Given the description of an element on the screen output the (x, y) to click on. 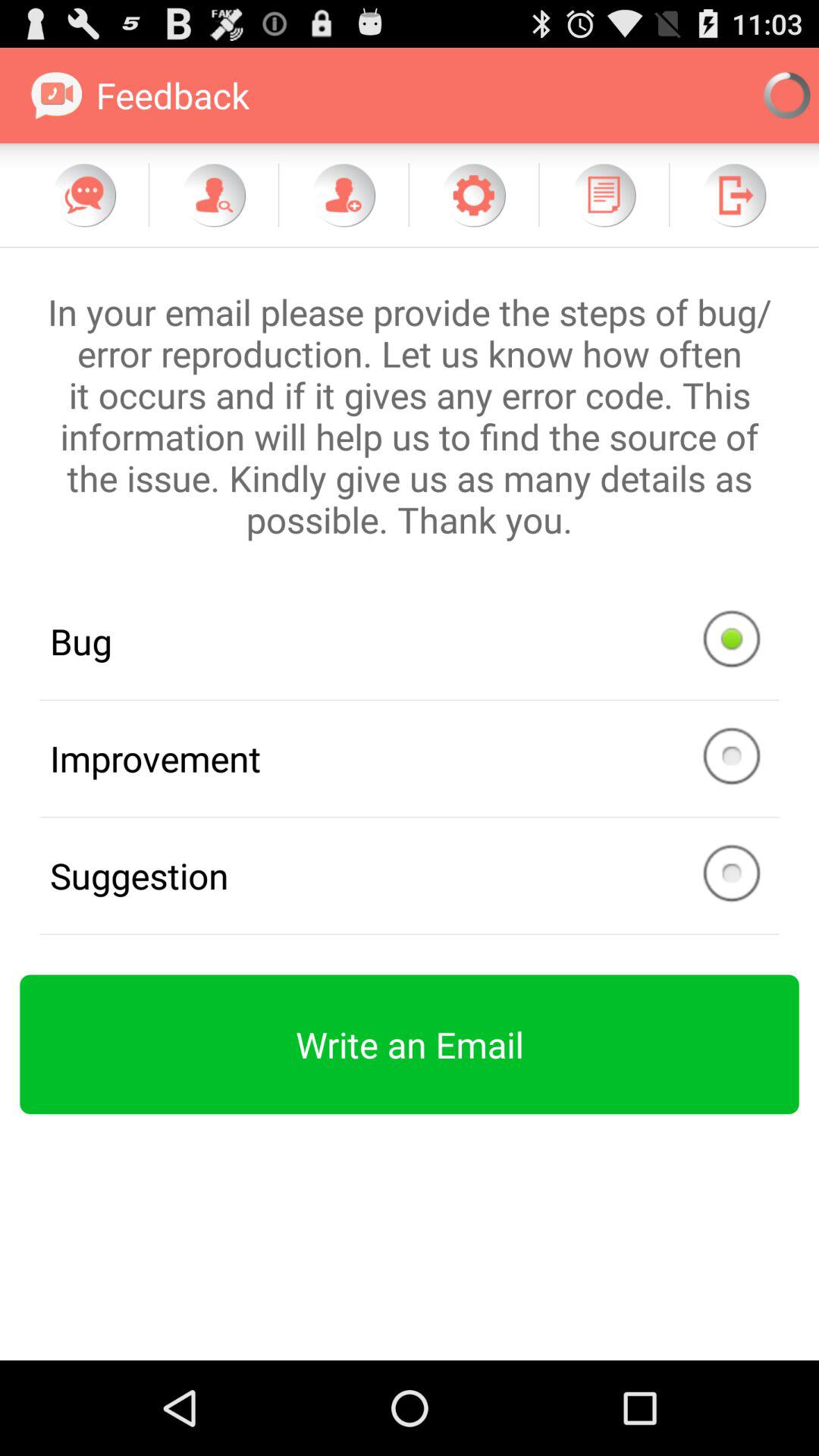
jump to suggestion (409, 875)
